Given the description of an element on the screen output the (x, y) to click on. 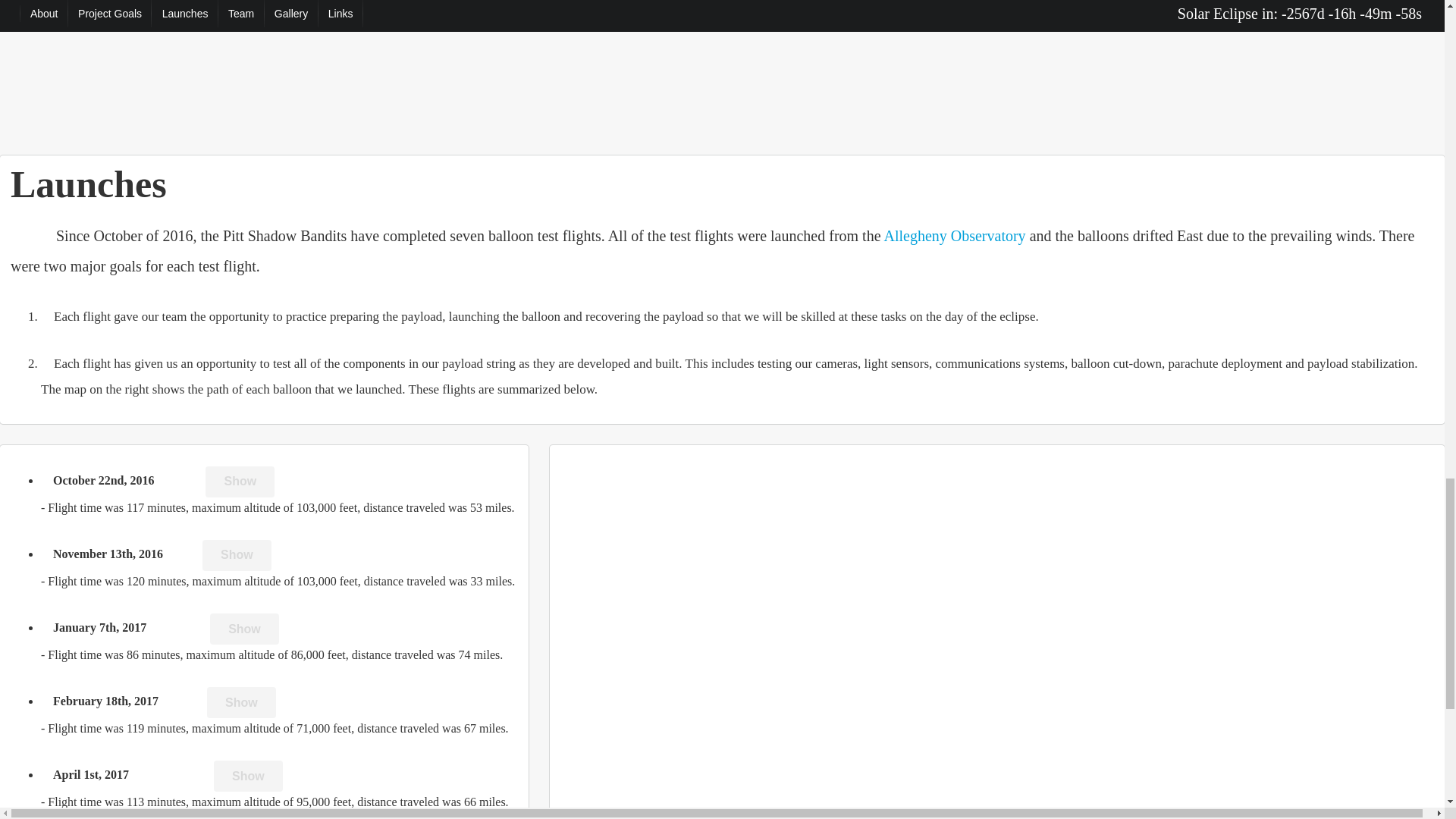
Show (241, 702)
Show (248, 775)
Show (244, 628)
Show (240, 481)
Allegheny Observatory (954, 235)
Show (236, 554)
